Given the description of an element on the screen output the (x, y) to click on. 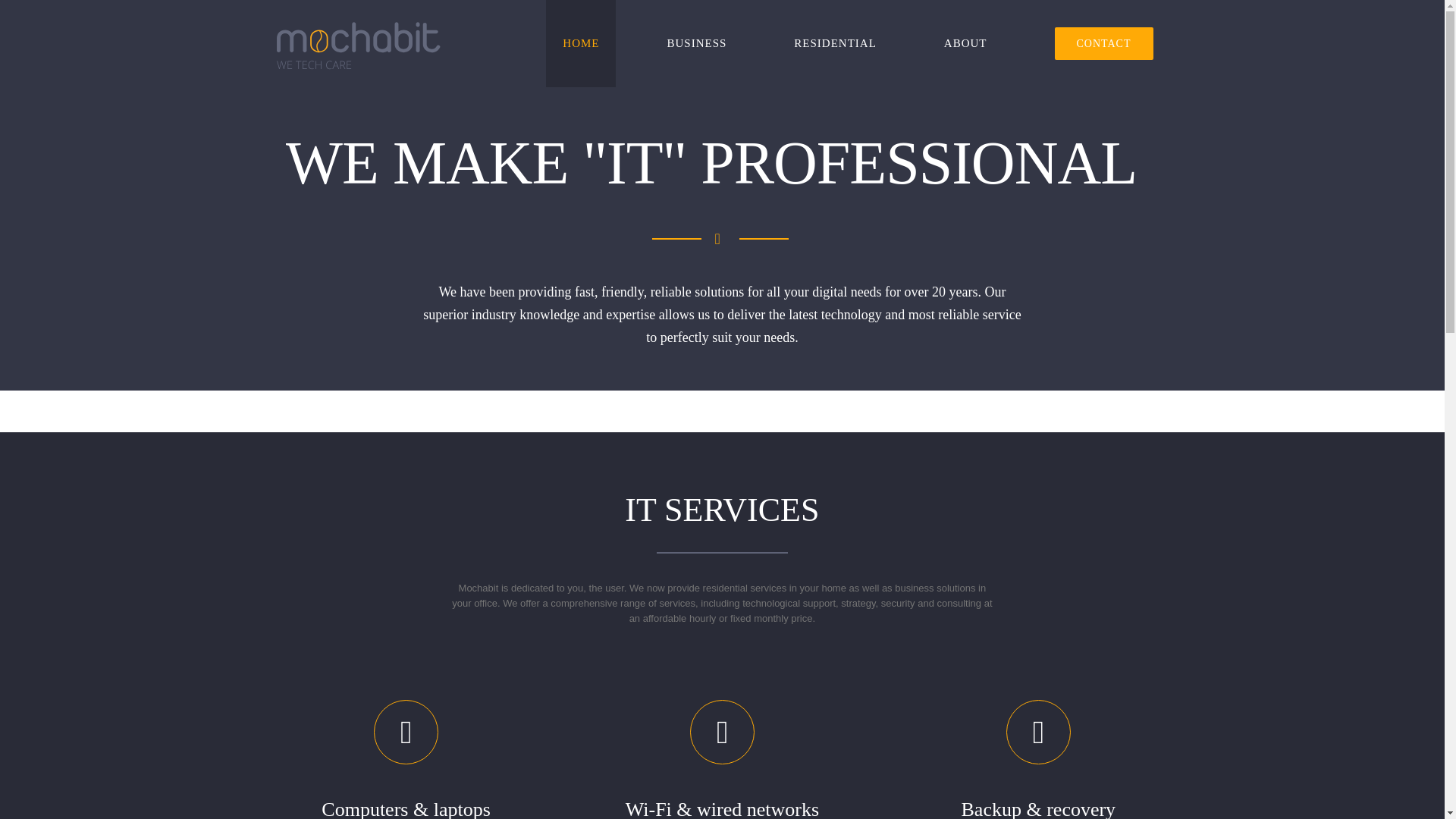
ABOUT (965, 43)
BUSINESS (695, 43)
HOME (580, 43)
CONTACT (1102, 43)
RESIDENTIAL (835, 43)
